Given the description of an element on the screen output the (x, y) to click on. 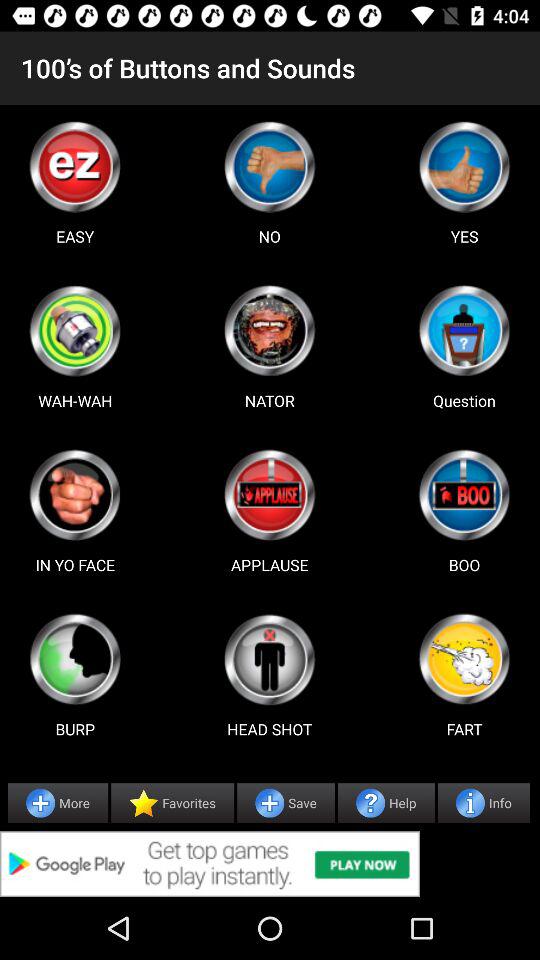
wah-hah app (75, 330)
